Given the description of an element on the screen output the (x, y) to click on. 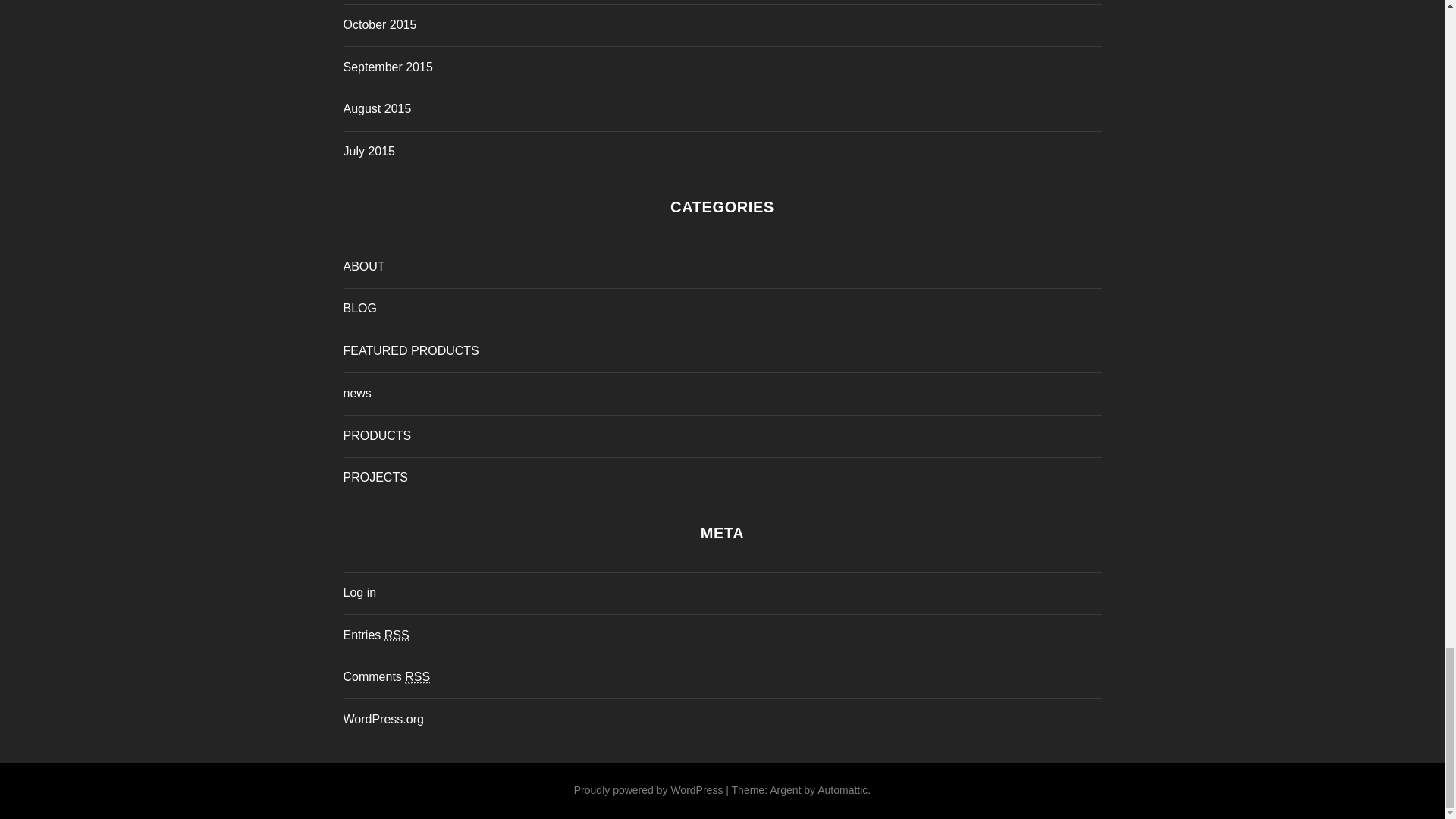
Find out more about who we are and what we do (363, 266)
Really Simple Syndication (396, 635)
An example of the products we design and sell (376, 435)
Really Simple Syndication (416, 676)
Case studies of past and present custom and bespoke projects (374, 477)
